Given the description of an element on the screen output the (x, y) to click on. 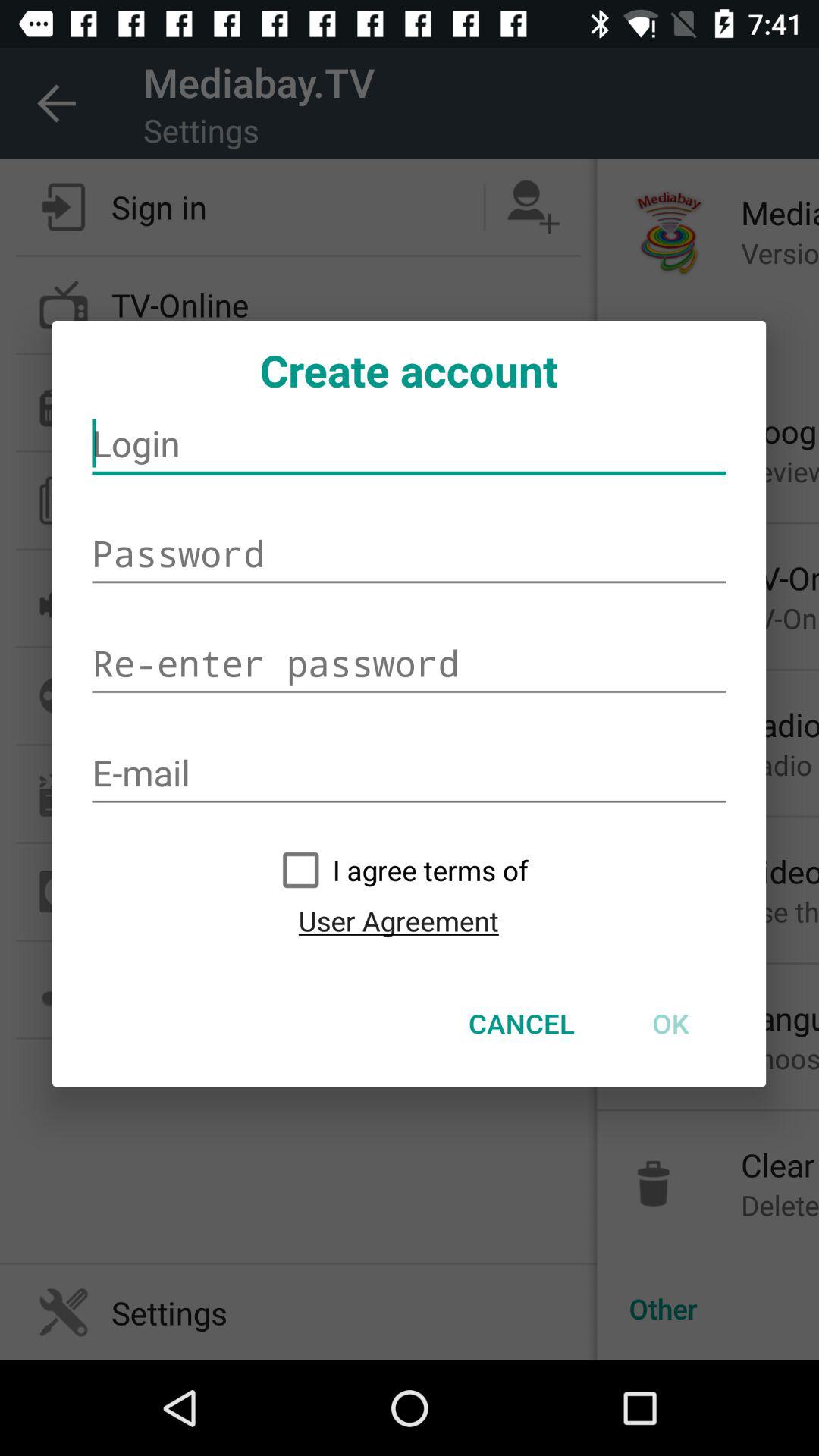
turn off the user agreement item (398, 920)
